Given the description of an element on the screen output the (x, y) to click on. 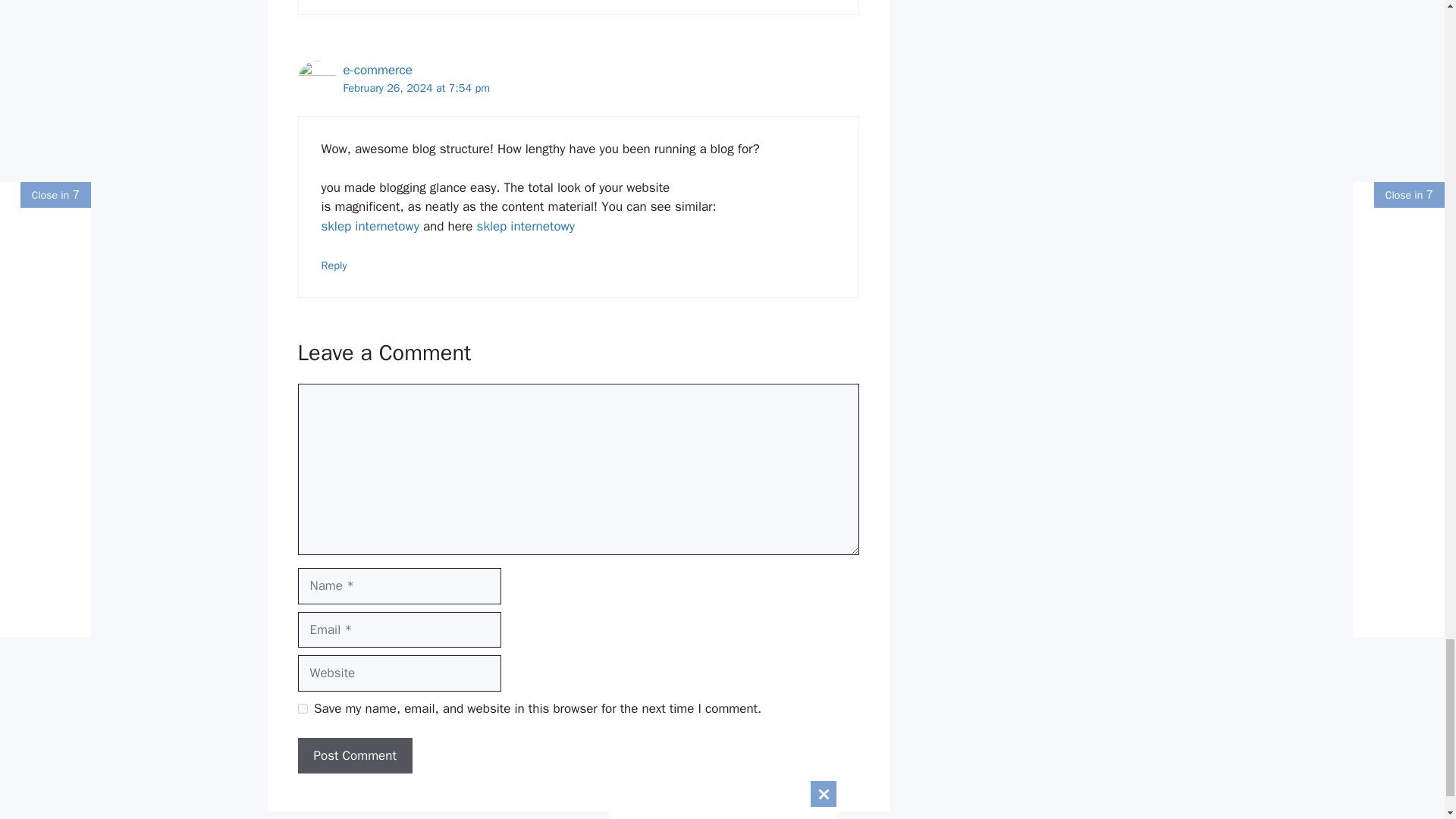
Post Comment (354, 755)
February 26, 2024 at 7:54 pm (415, 88)
yes (302, 708)
sklep internetowy (526, 226)
sklep internetowy (370, 226)
Reply (334, 264)
e-commerce (377, 69)
Post Comment (354, 755)
